Given the description of an element on the screen output the (x, y) to click on. 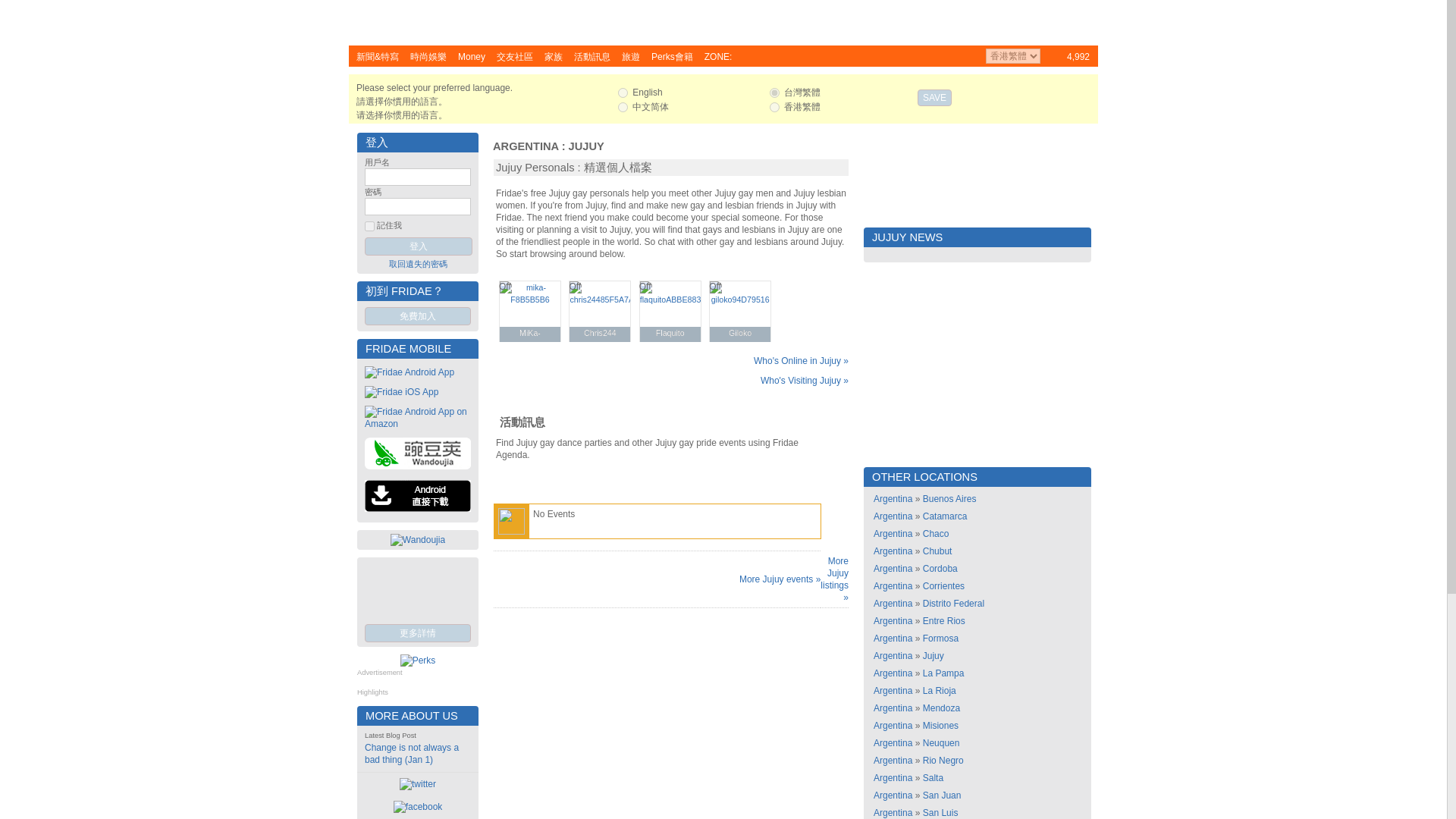
tc (774, 92)
Offline (644, 286)
1 (369, 225)
Close this panel (1087, 86)
SAVE (934, 97)
Offline (574, 286)
Facebook (1071, 13)
sc (622, 107)
en (622, 92)
Offline (714, 286)
